Given the description of an element on the screen output the (x, y) to click on. 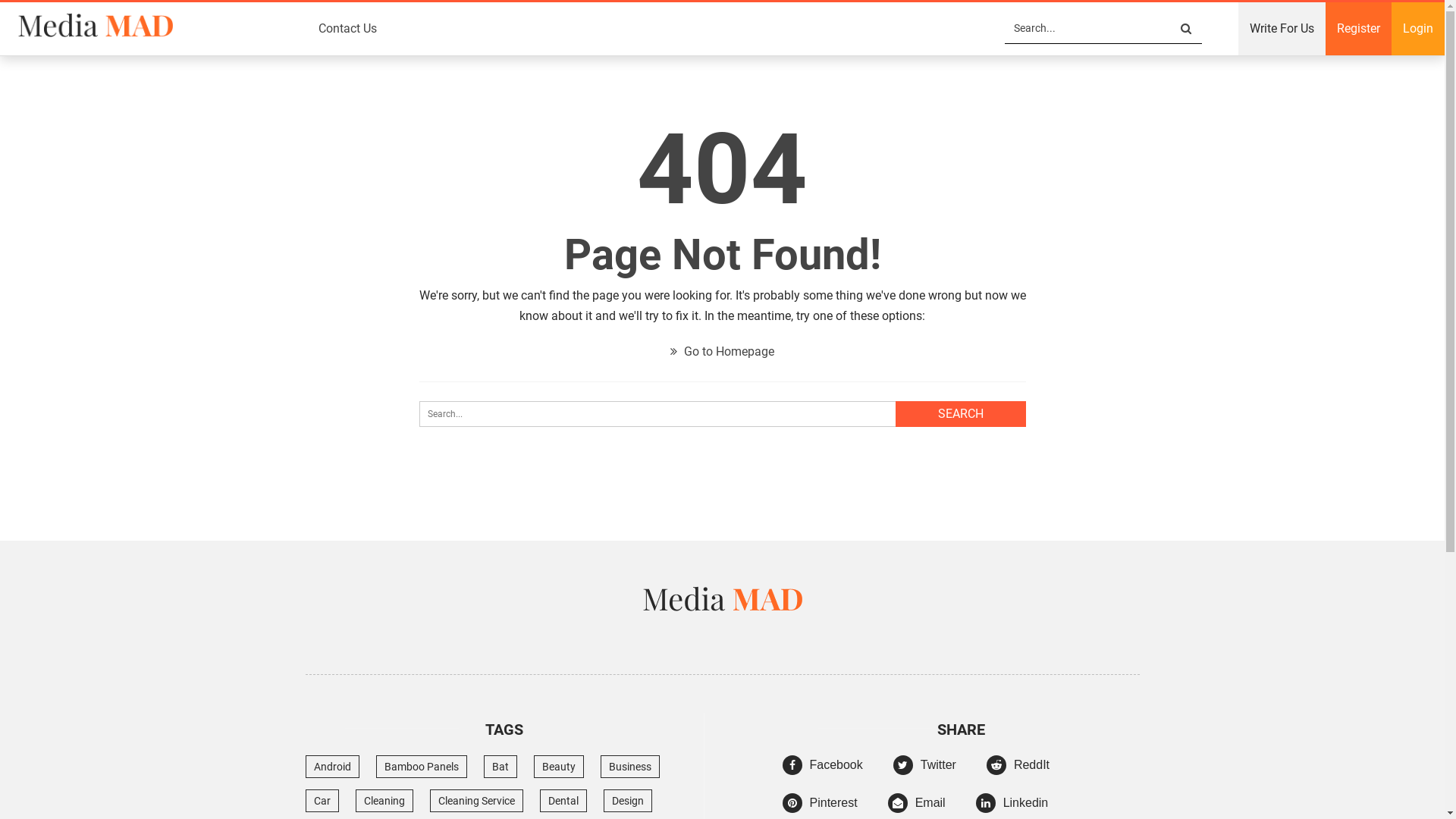
Contact Us Element type: text (347, 28)
Search Element type: text (959, 413)
Search Element type: text (1190, 28)
Android Element type: text (331, 766)
Bat Element type: text (500, 766)
Beauty Element type: text (558, 766)
Go to Homepage Element type: text (722, 351)
Cleaning Service Element type: text (475, 800)
Pinterest Element type: text (819, 804)
Design Element type: text (627, 800)
Car Element type: text (321, 800)
Cleaning Element type: text (383, 800)
Twitter Element type: text (924, 766)
Bamboo Panels Element type: text (421, 766)
Write For Us Element type: text (1281, 28)
Facebook Element type: text (822, 766)
Business Element type: text (629, 766)
Search for: Element type: hover (1102, 28)
Login Element type: text (1417, 28)
Search for: Element type: hover (721, 413)
Email Element type: text (916, 804)
Dental Element type: text (562, 800)
Register Element type: text (1358, 28)
ReddIt Element type: text (1017, 766)
Linkedin Element type: text (1011, 804)
